Given the description of an element on the screen output the (x, y) to click on. 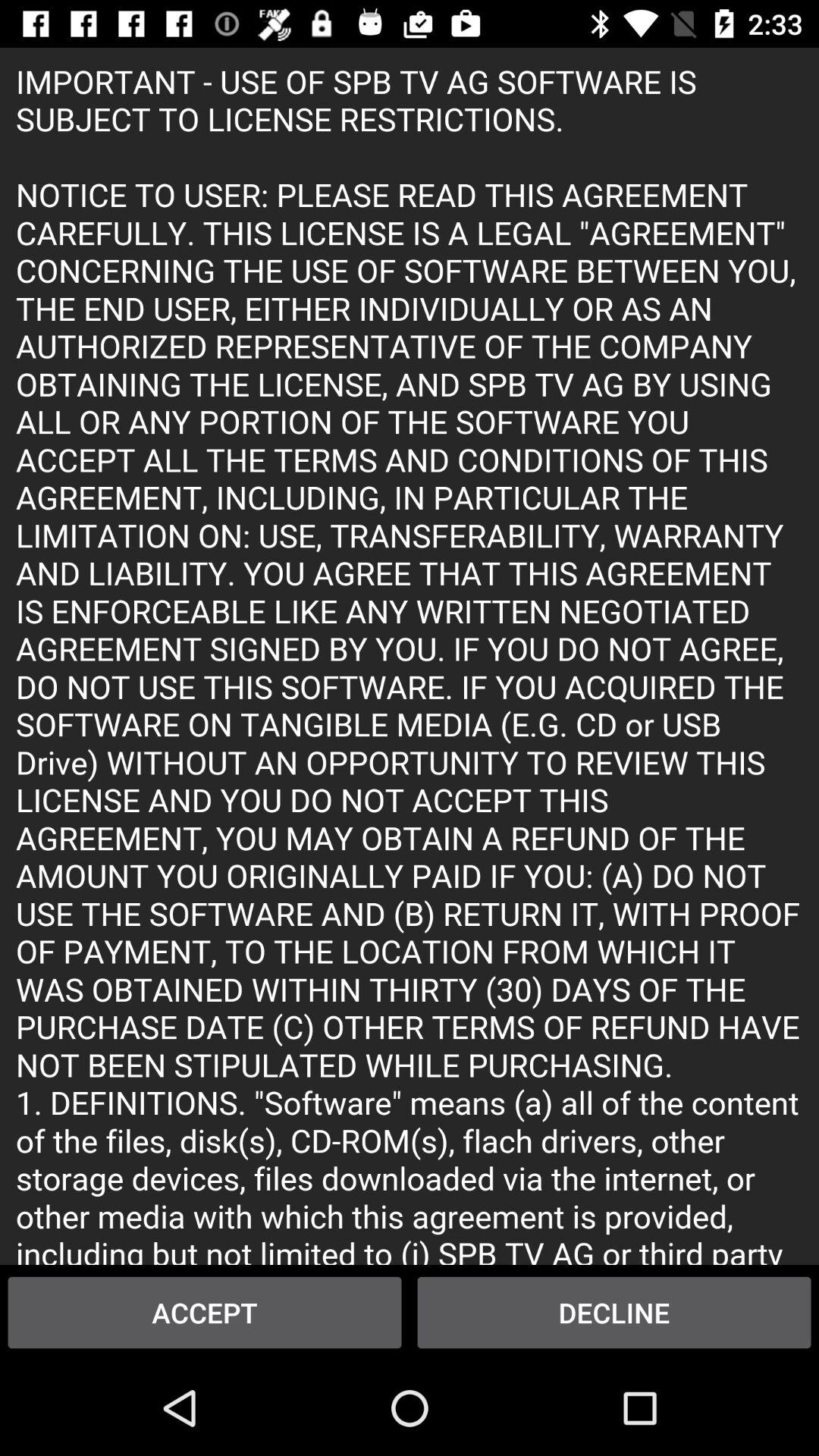
turn off item to the right of the accept icon (614, 1312)
